Given the description of an element on the screen output the (x, y) to click on. 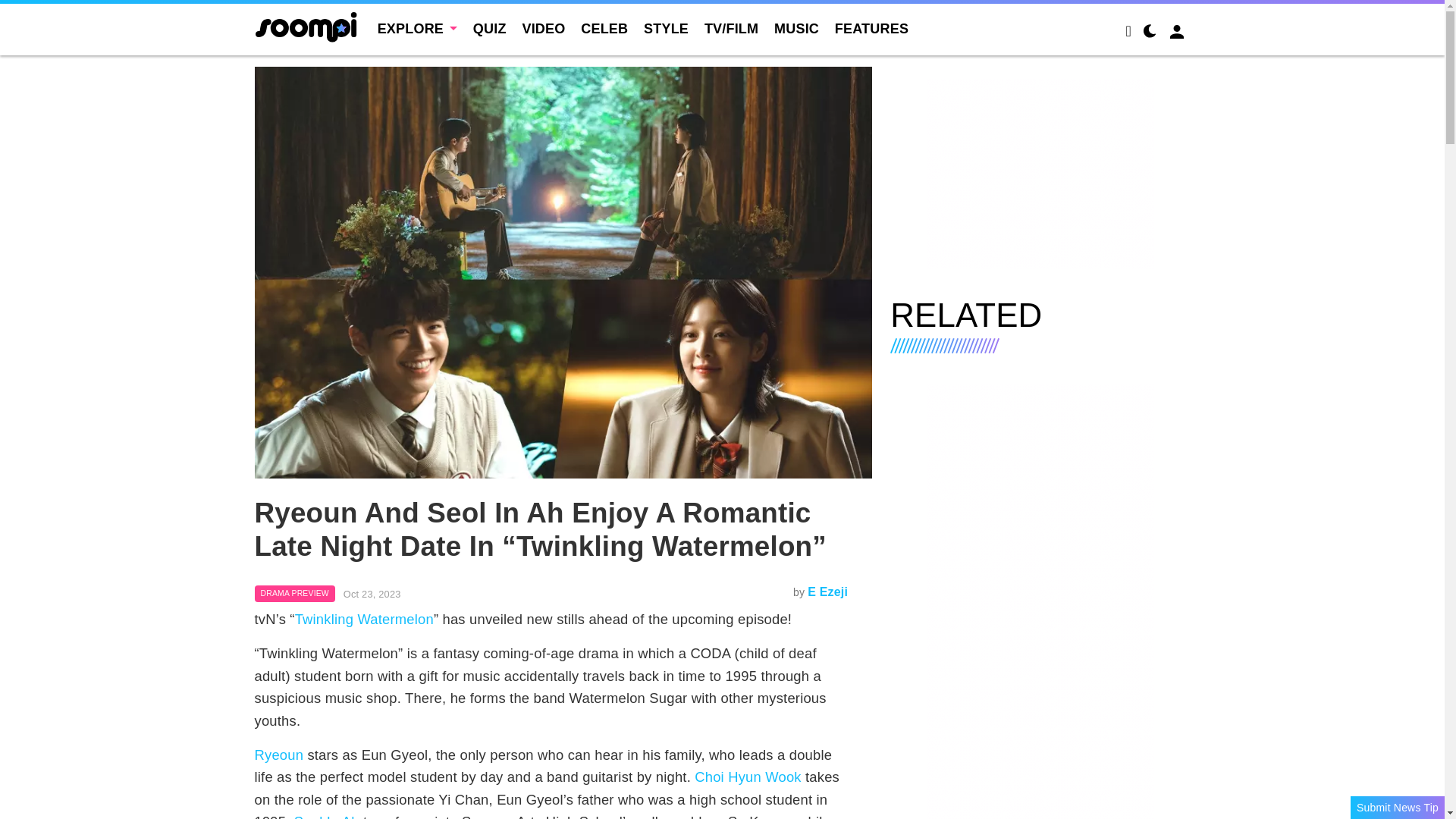
Articles by E Ezeji (827, 591)
CELEB (603, 28)
3rd party ad content (1040, 173)
Night Mode Toggle (1149, 33)
EXPLORE (417, 28)
DRAMA PREVIEW (294, 593)
STYLE (665, 28)
VIDEO (542, 28)
FEATURES (871, 28)
Seol In Ah (326, 816)
QUIZ (489, 28)
Choi Hyun Wook (747, 776)
Ryeoun (279, 754)
E Ezeji (827, 591)
Drama Preview (294, 593)
